Given the description of an element on the screen output the (x, y) to click on. 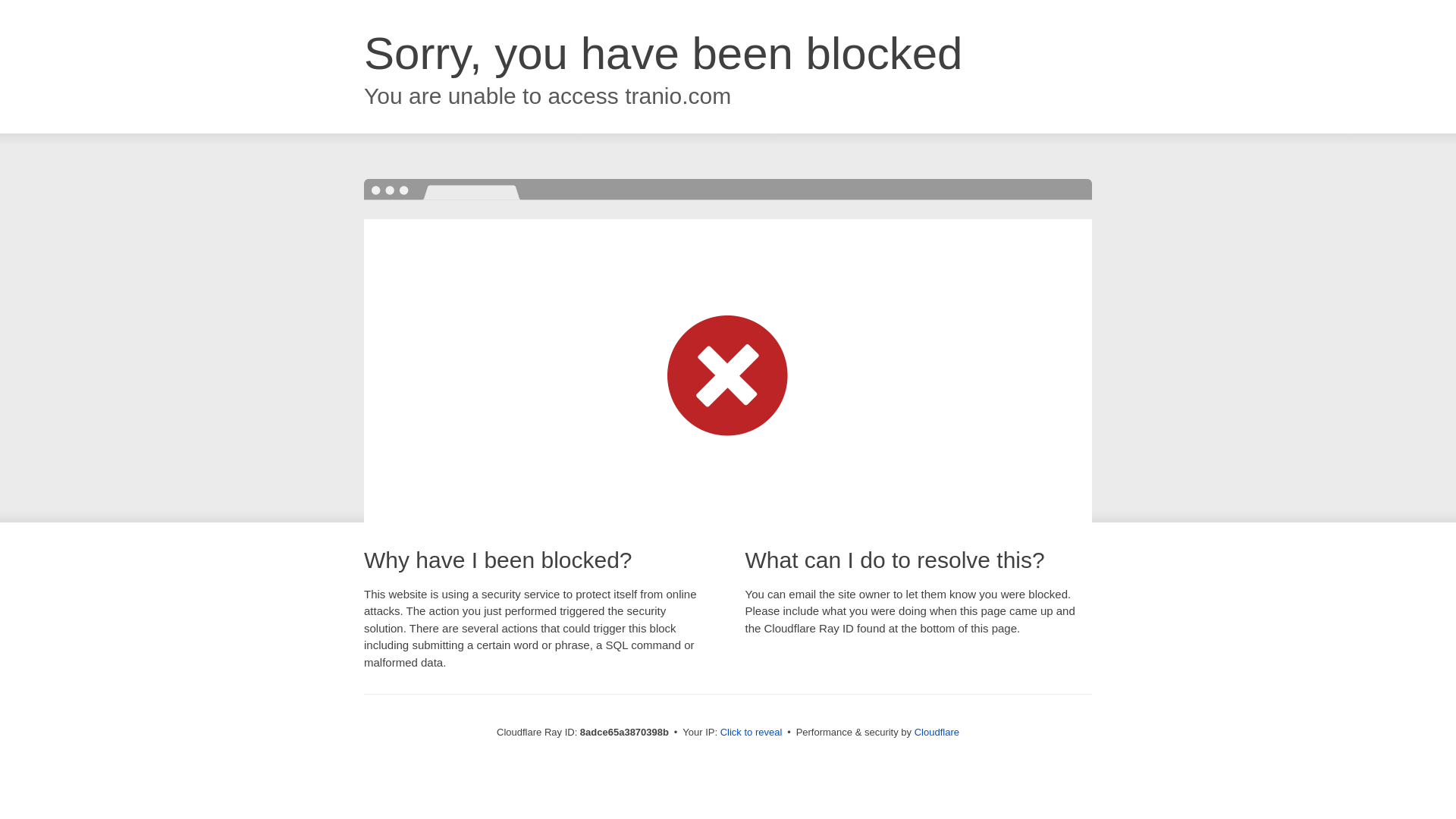
Cloudflare (936, 731)
Click to reveal (751, 732)
